Given the description of an element on the screen output the (x, y) to click on. 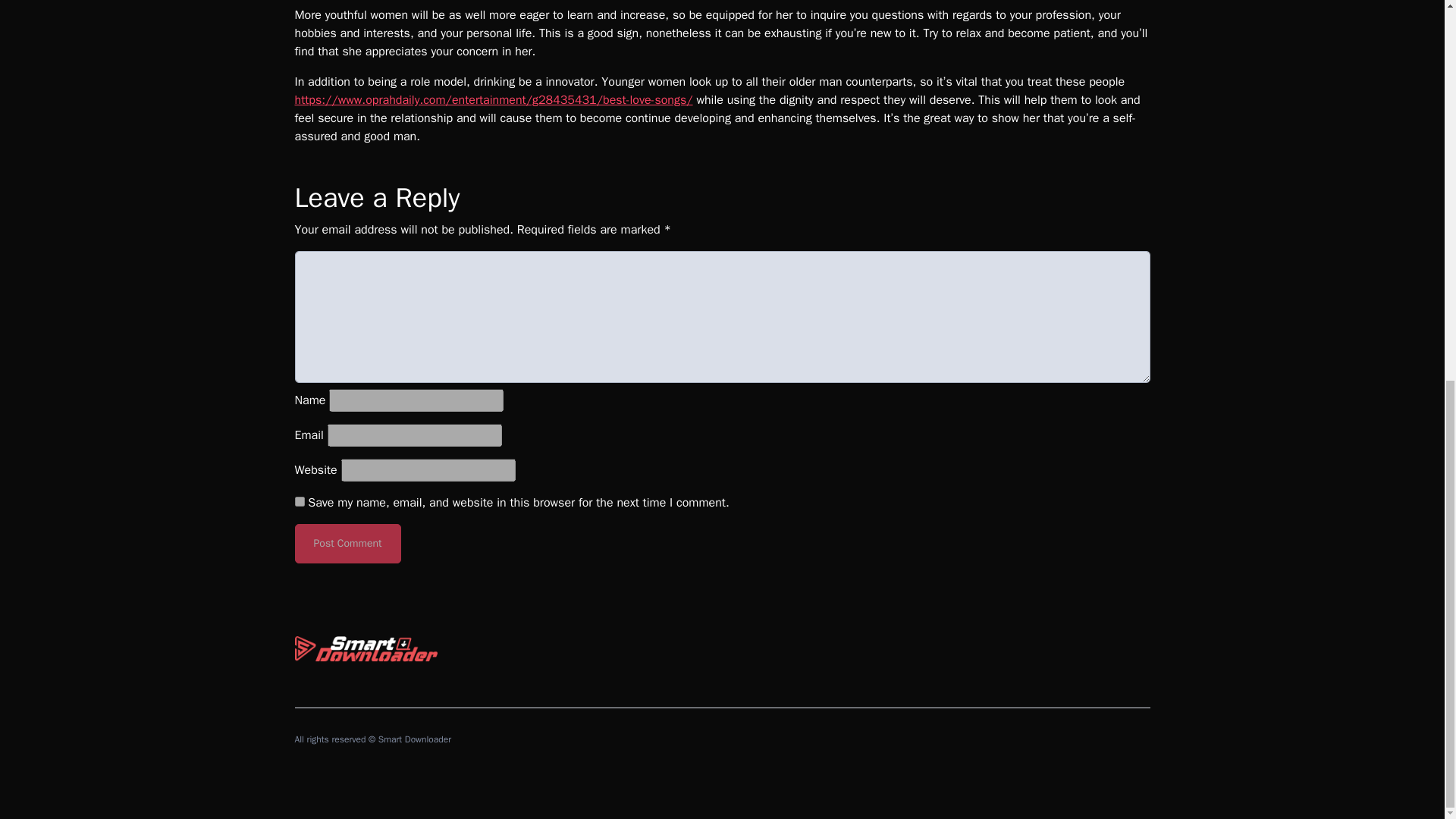
Post Comment (347, 543)
yes (299, 501)
Post Comment (347, 543)
